Given the description of an element on the screen output the (x, y) to click on. 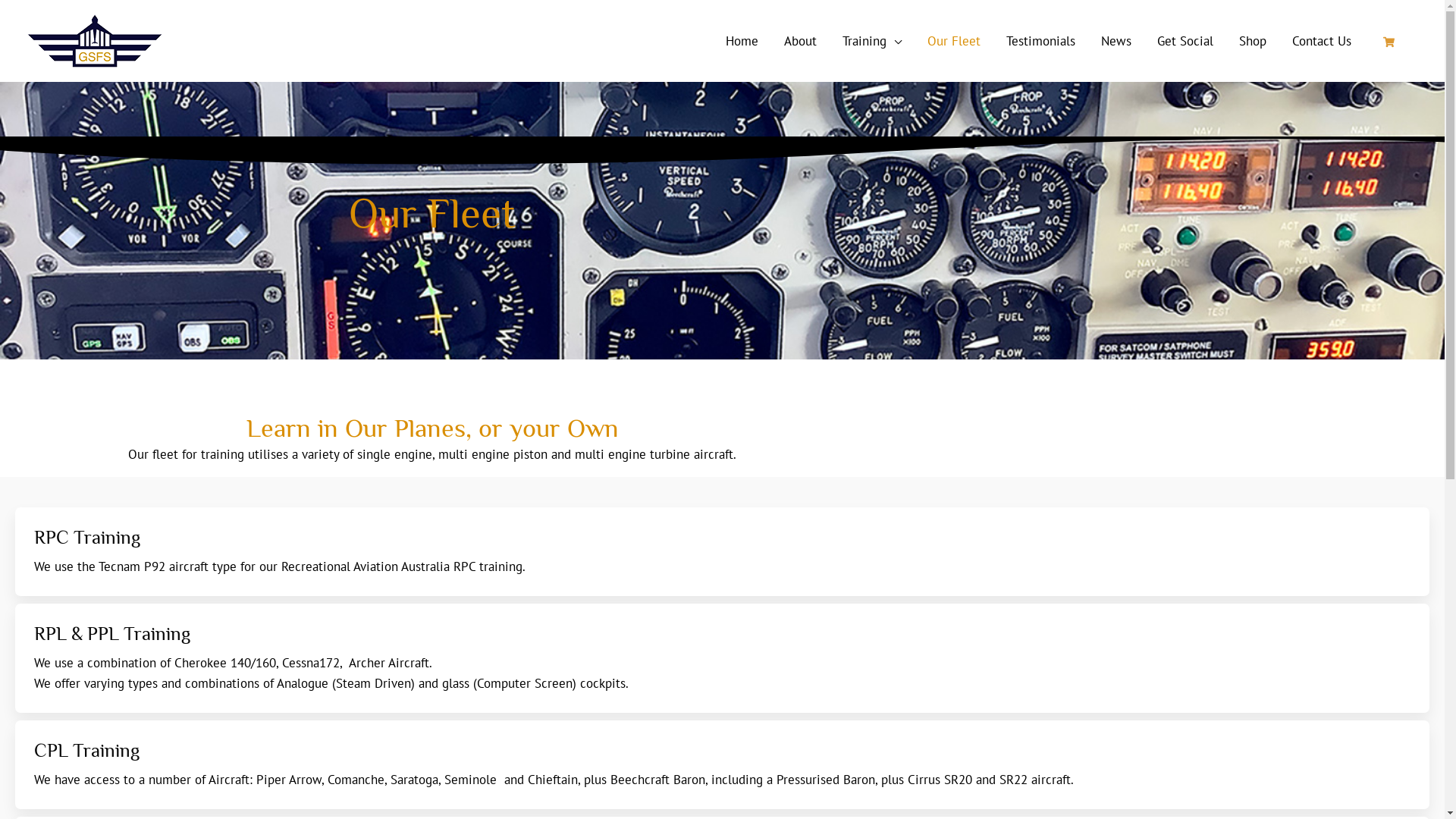
Our Fleet Element type: text (953, 40)
Get Social Element type: text (1184, 40)
News Element type: text (1115, 40)
Contact Us Element type: text (1320, 40)
Home Element type: text (741, 40)
Shop Element type: text (1251, 40)
Testimonials Element type: text (1040, 40)
About Element type: text (799, 40)
Training Element type: text (871, 40)
